Given the description of an element on the screen output the (x, y) to click on. 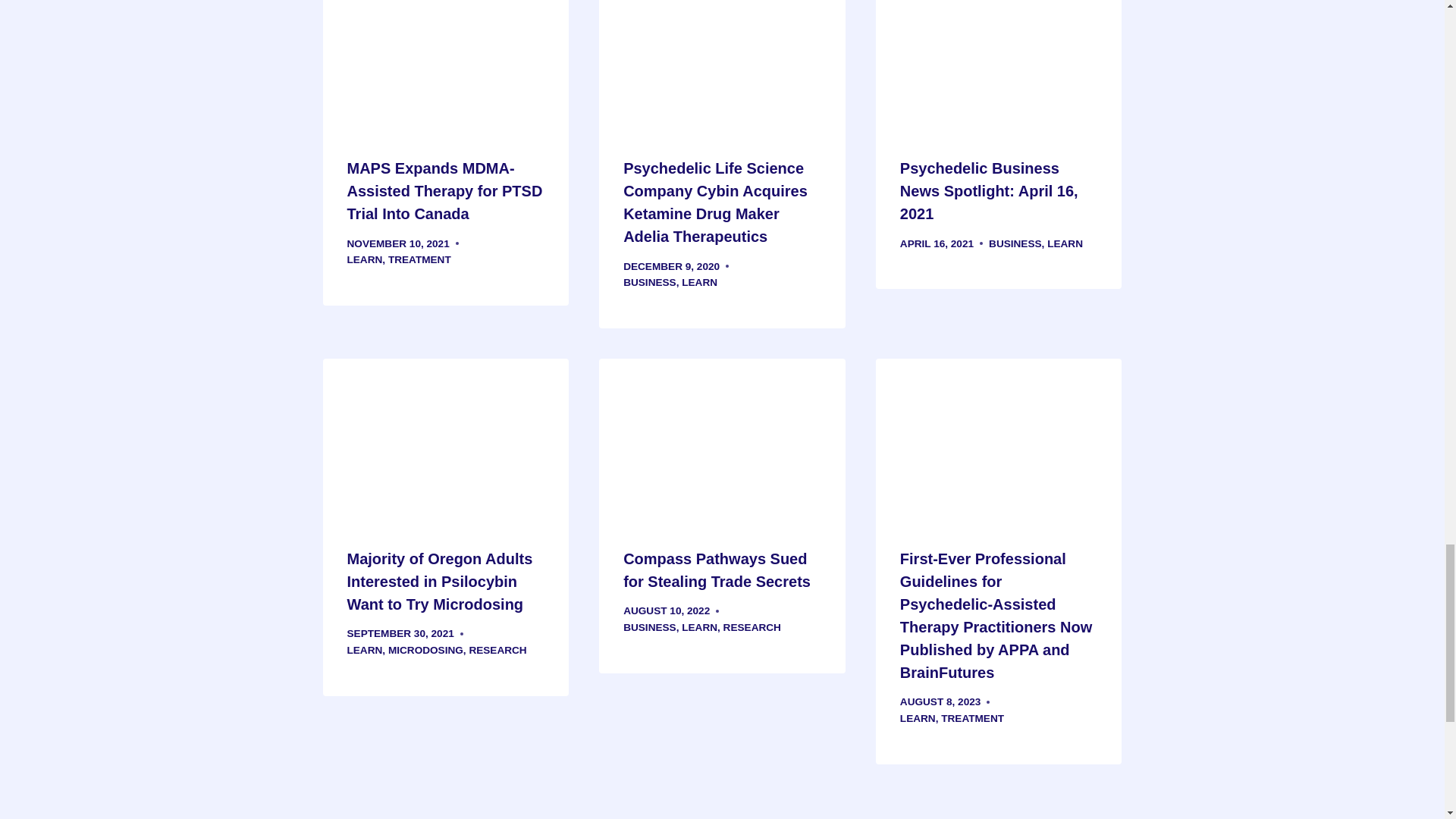
TREATMENT (419, 259)
LEARN (699, 282)
LEARN (364, 259)
Psychedelic Business News Spotlight: April 16, 2021 (988, 190)
LEARN (1064, 243)
BUSINESS (650, 282)
BUSINESS (1015, 243)
